Given the description of an element on the screen output the (x, y) to click on. 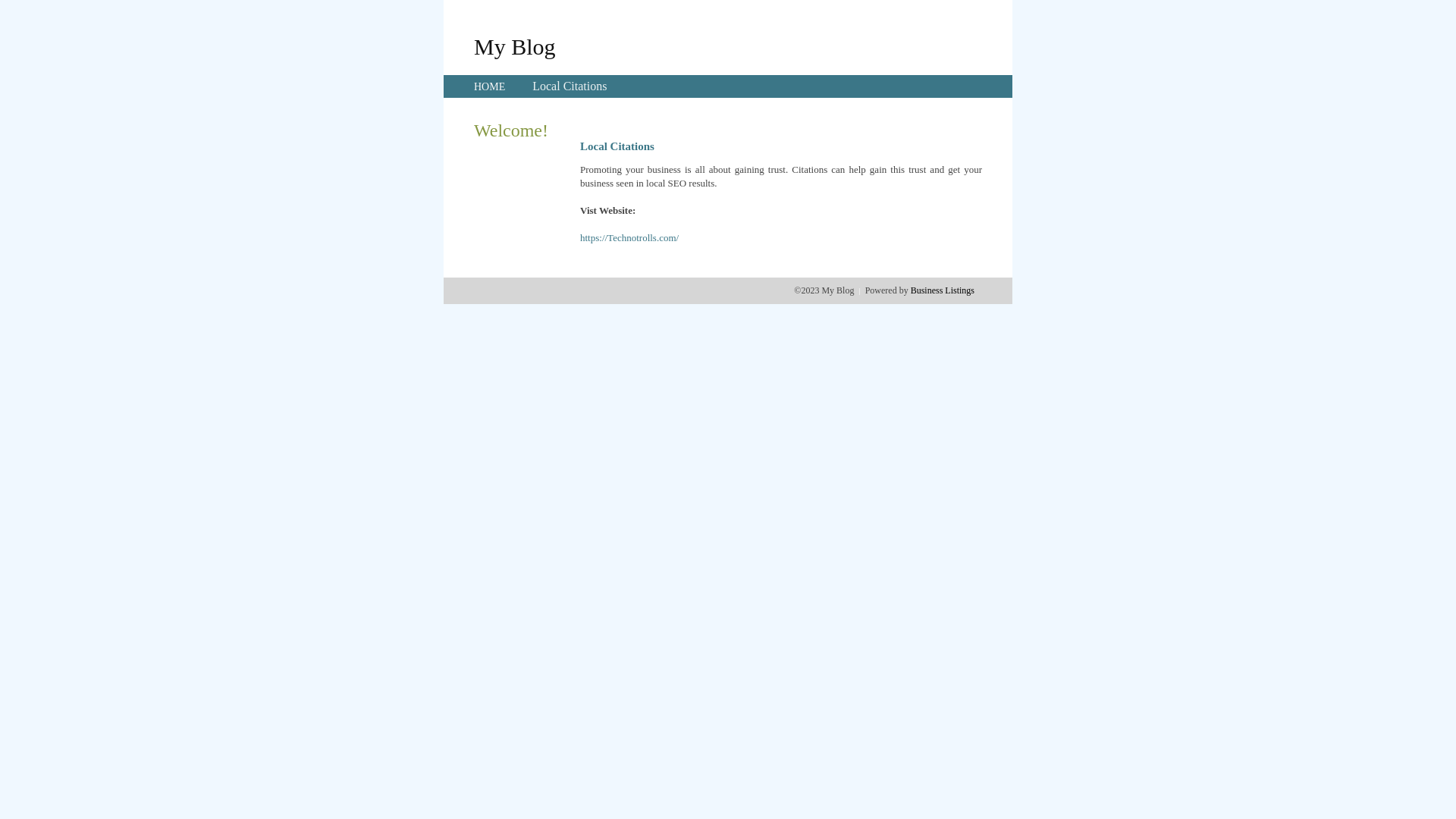
HOME Element type: text (489, 86)
https://Technotrolls.com/ Element type: text (629, 237)
Business Listings Element type: text (942, 290)
Local Citations Element type: text (569, 85)
My Blog Element type: text (514, 46)
